Given the description of an element on the screen output the (x, y) to click on. 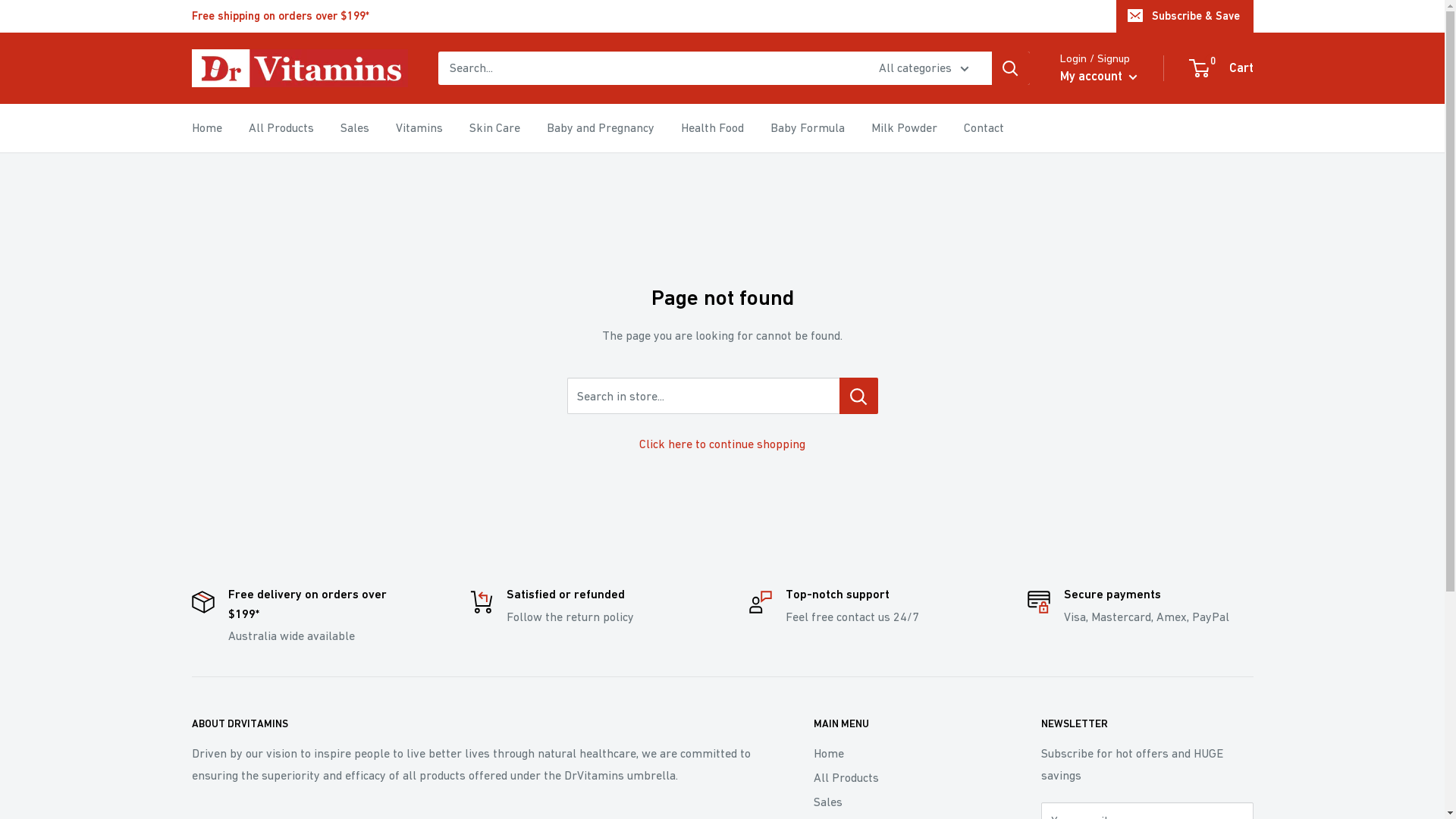
ABOUT DRVITAMINS Element type: text (475, 724)
Vitamins Element type: text (418, 127)
All Products Element type: text (899, 777)
Baby and Pregnancy Element type: text (599, 127)
Sales Element type: text (353, 127)
Click here to continue shopping Element type: text (722, 443)
My account Element type: text (1098, 76)
Health Food Element type: text (711, 127)
0
Cart Element type: text (1221, 68)
Home Element type: text (899, 752)
Home Element type: text (206, 127)
Milk Powder Element type: text (903, 127)
Subscribe & Save Element type: text (1184, 15)
All Products Element type: text (280, 127)
Baby Formula Element type: text (807, 127)
MAIN MENU Element type: text (899, 724)
Sales Element type: text (899, 801)
Skin Care Element type: text (493, 127)
Contact Element type: text (983, 127)
